Given the description of an element on the screen output the (x, y) to click on. 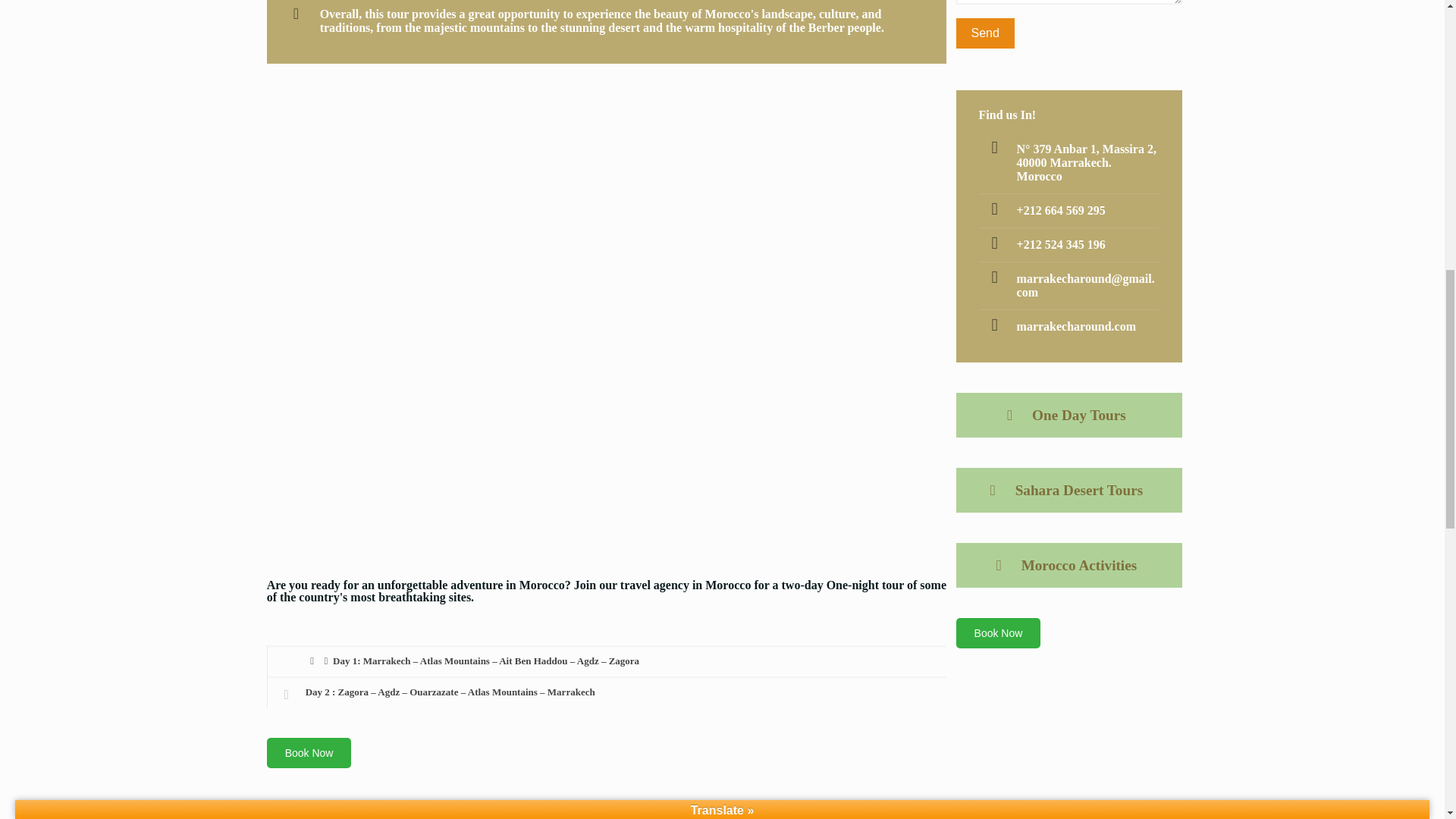
Send (985, 33)
